Given the description of an element on the screen output the (x, y) to click on. 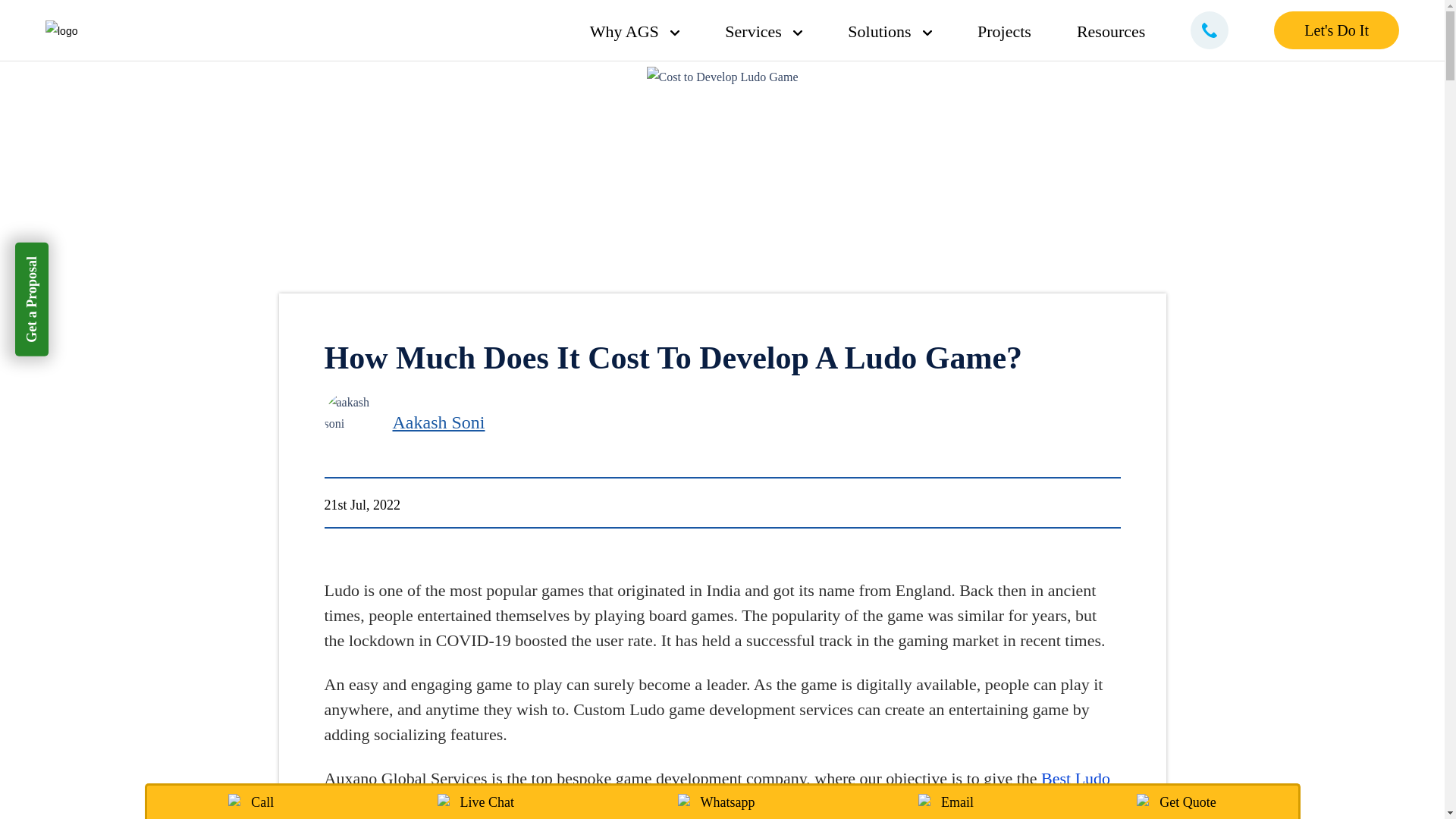
Vector Smart Object1 (674, 33)
Vector Smart Object1 (797, 33)
Vector Smart Object1 (927, 33)
icon-header-call- (1209, 29)
Services Vector Smart Object1 (763, 31)
Why AGS Vector Smart Object1 (646, 31)
